Given the description of an element on the screen output the (x, y) to click on. 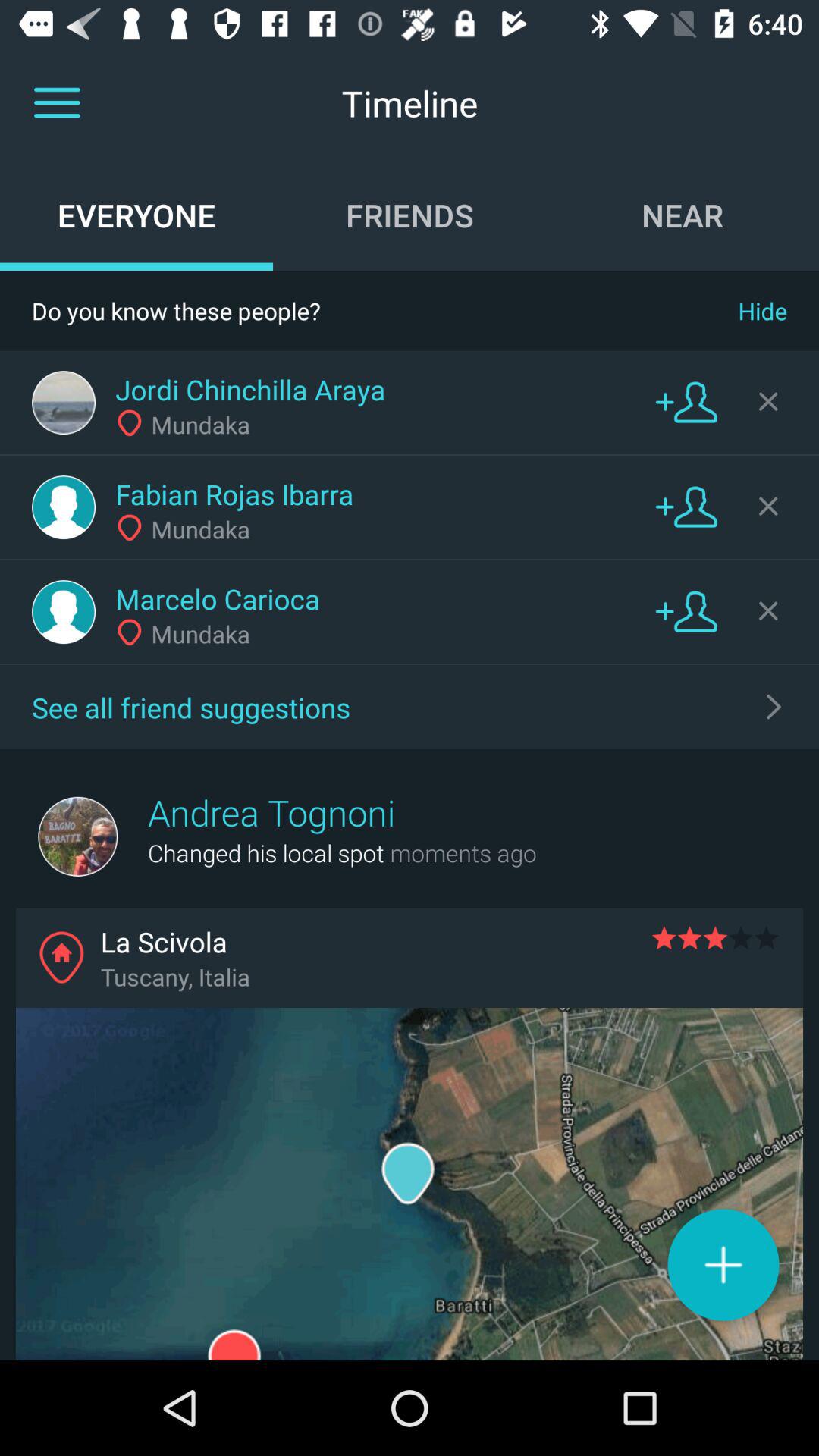
add friend (686, 401)
